Given the description of an element on the screen output the (x, y) to click on. 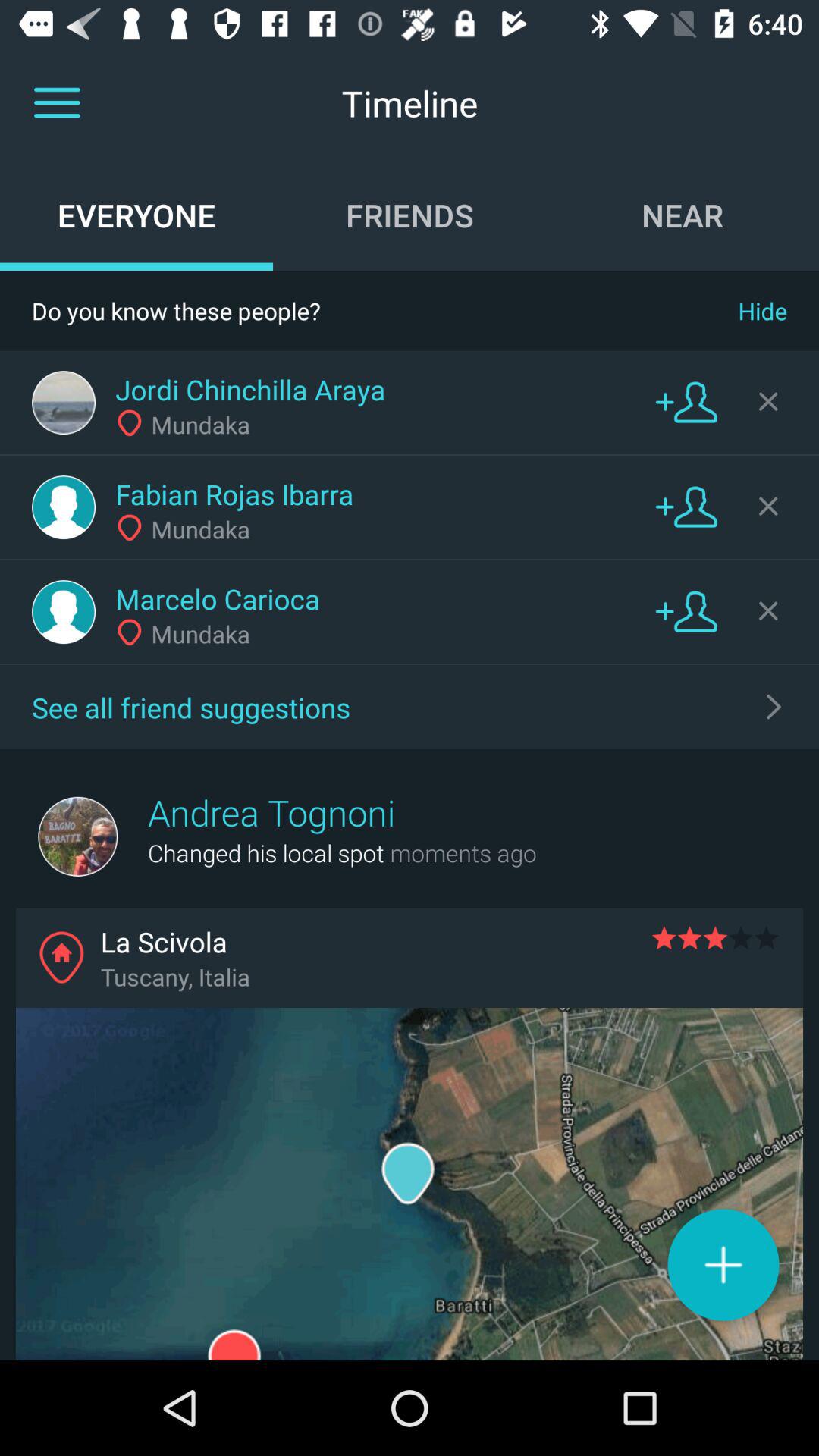
add friend (686, 401)
